Given the description of an element on the screen output the (x, y) to click on. 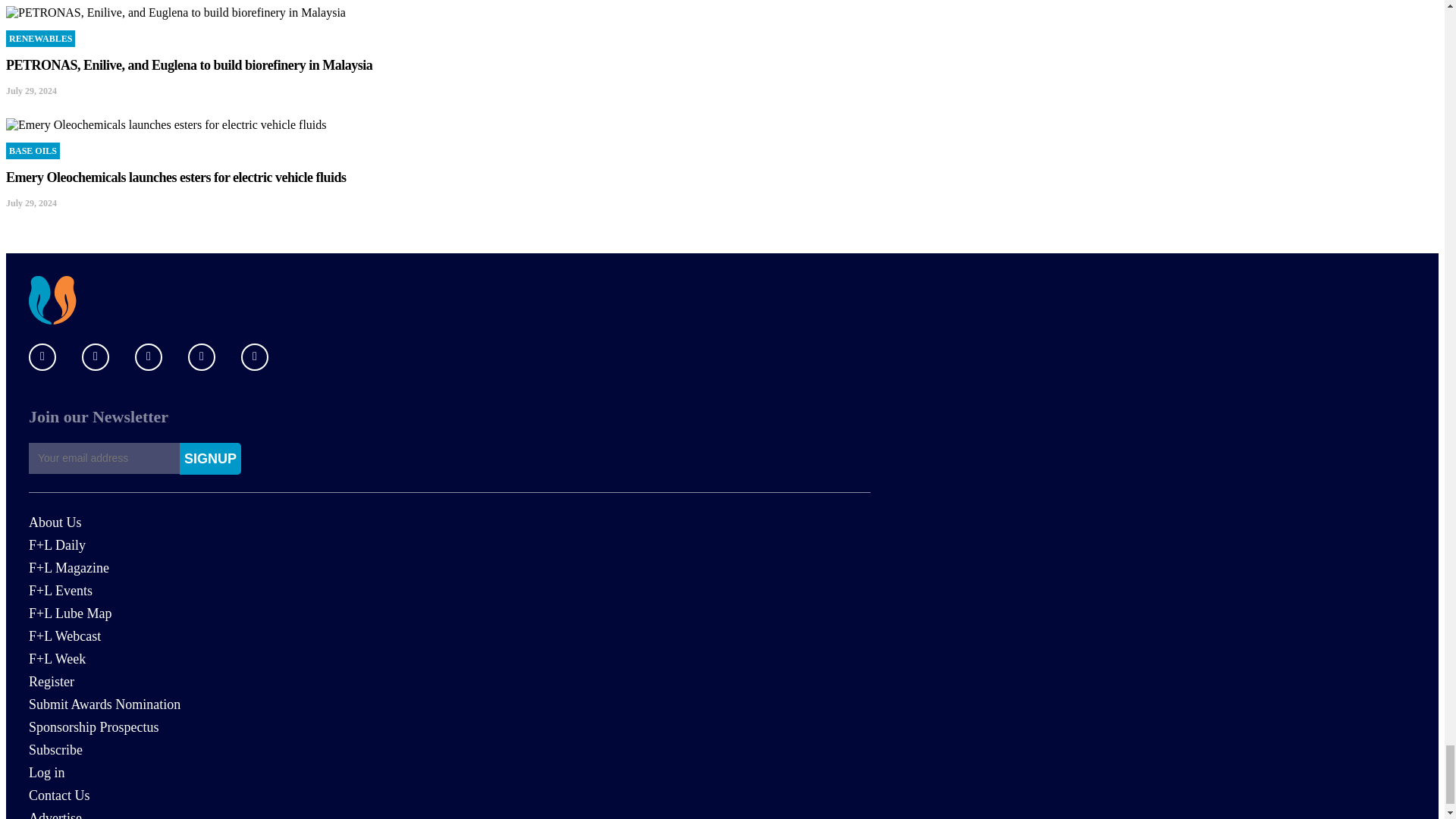
SIGNUP (210, 459)
